Given the description of an element on the screen output the (x, y) to click on. 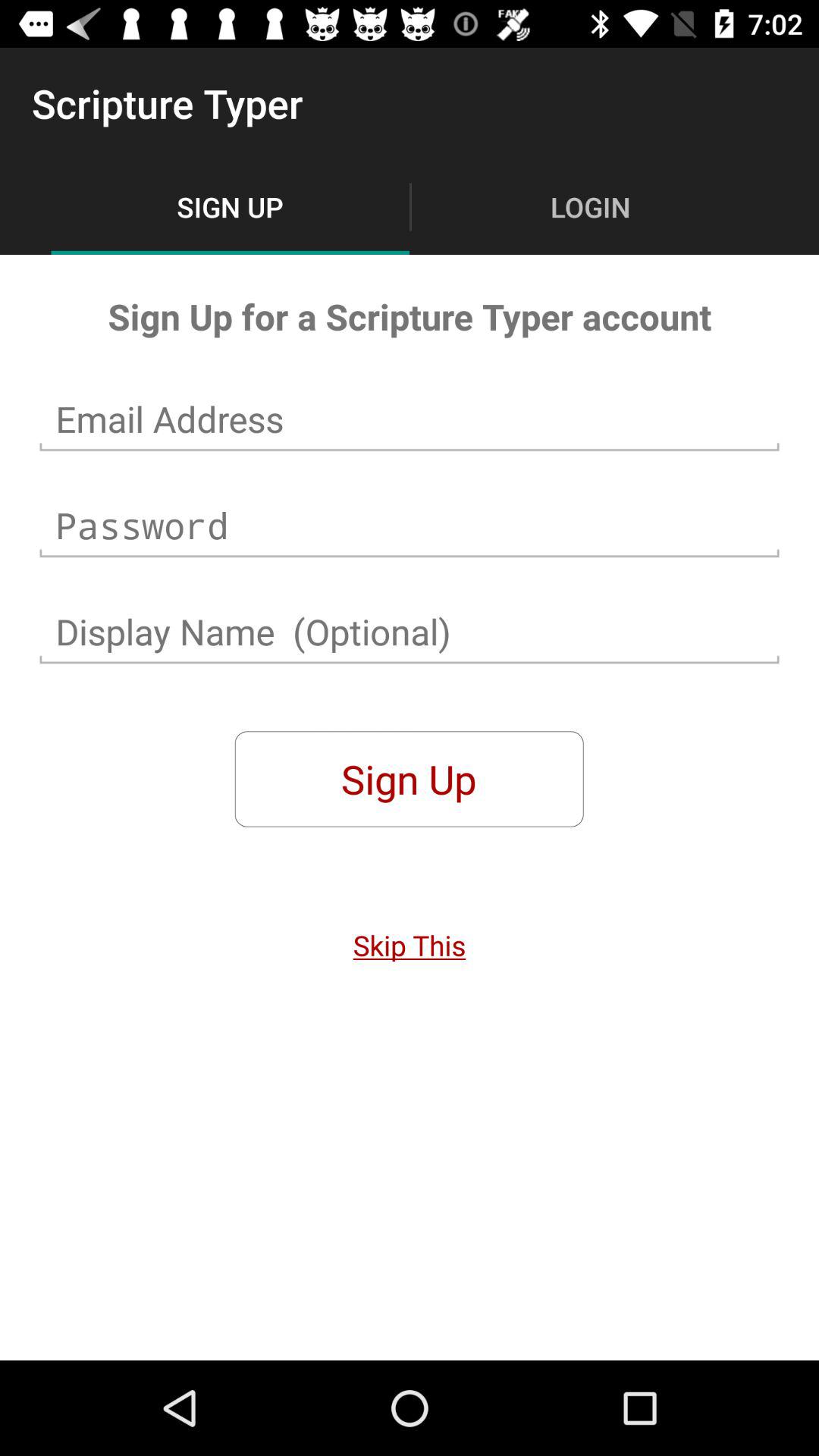
choose icon below sign up icon (409, 945)
